Given the description of an element on the screen output the (x, y) to click on. 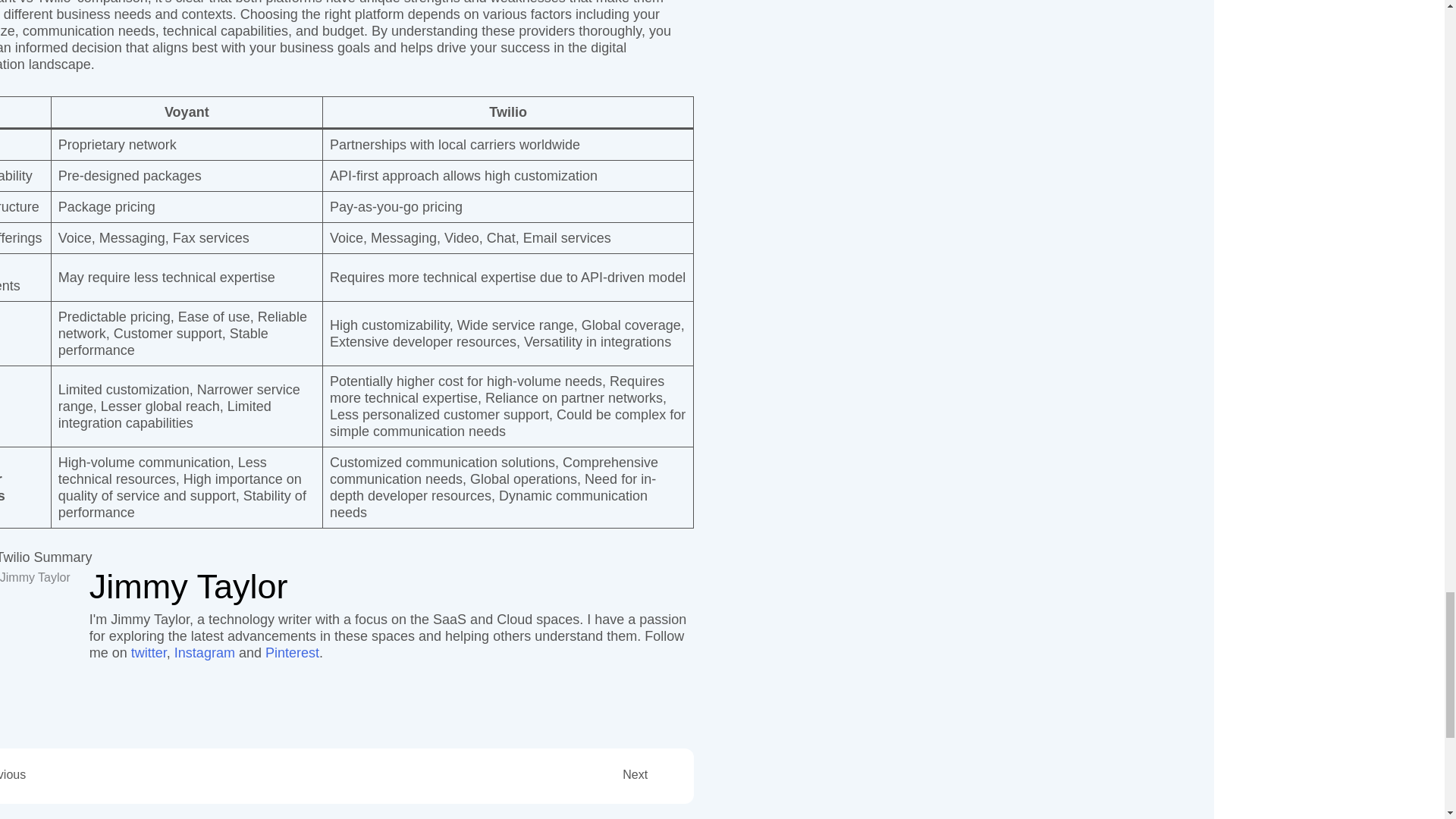
Previous (156, 774)
Instagram (204, 652)
Next (480, 774)
twitter (149, 652)
Pinterest (291, 652)
